Given the description of an element on the screen output the (x, y) to click on. 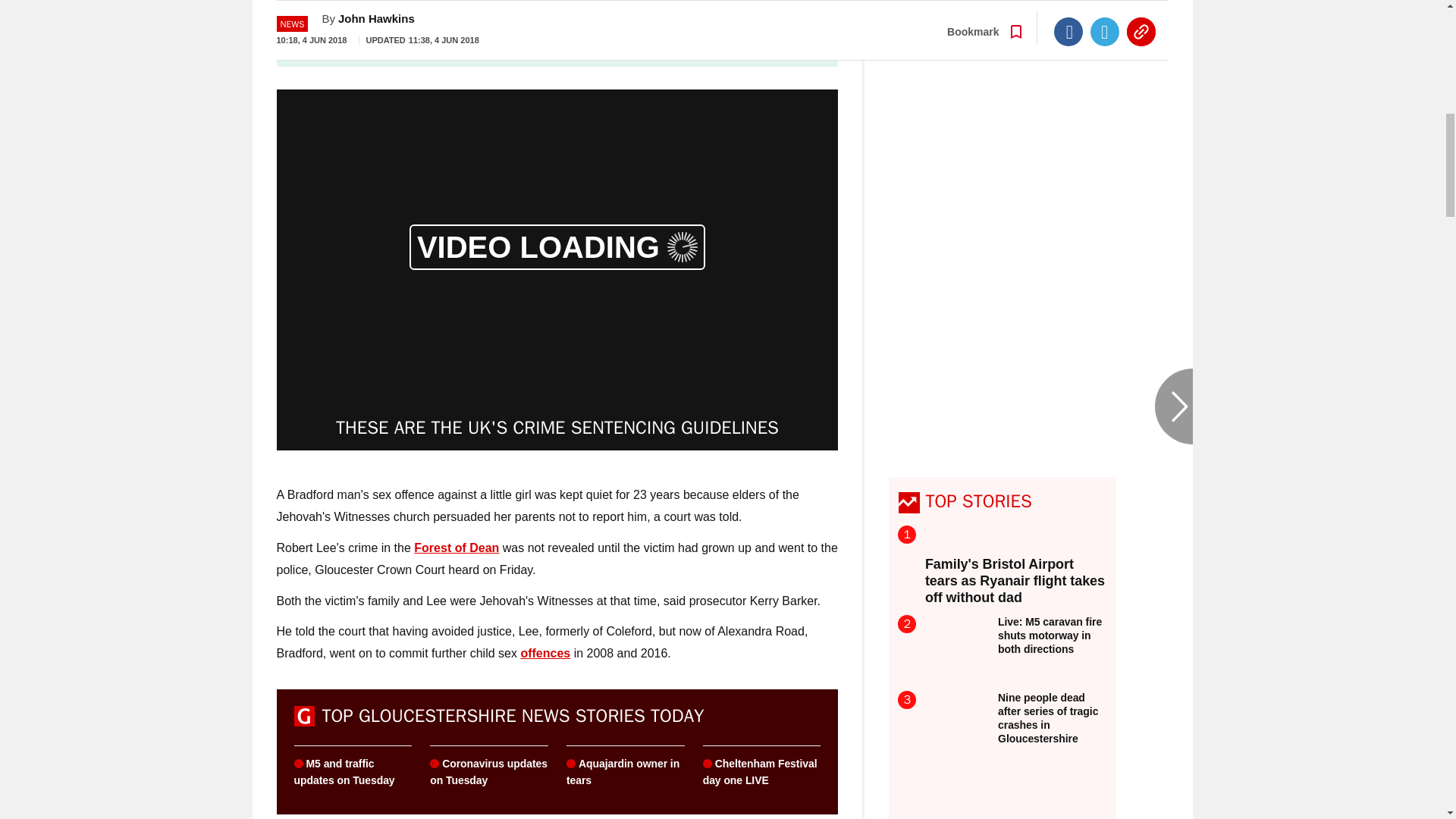
Go (730, 40)
